Given the description of an element on the screen output the (x, y) to click on. 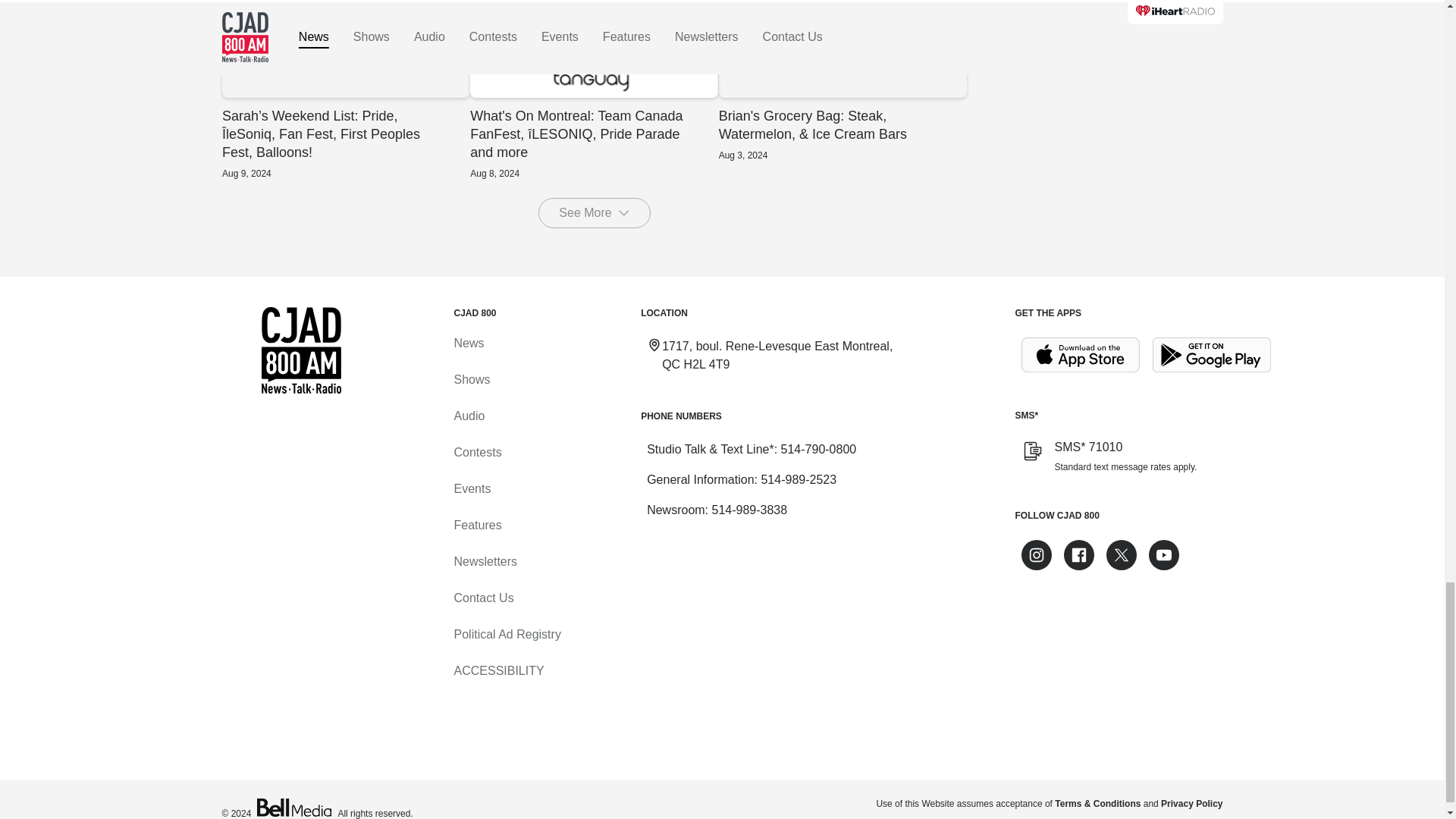
514-989-3838 (749, 509)
Accessibility (497, 671)
Get it on Google Play (1212, 355)
Features (476, 524)
News (467, 342)
Shows (470, 379)
See More (593, 213)
Privacy Policy (1191, 803)
Contests (476, 451)
514-989-2523 (797, 479)
